Given the description of an element on the screen output the (x, y) to click on. 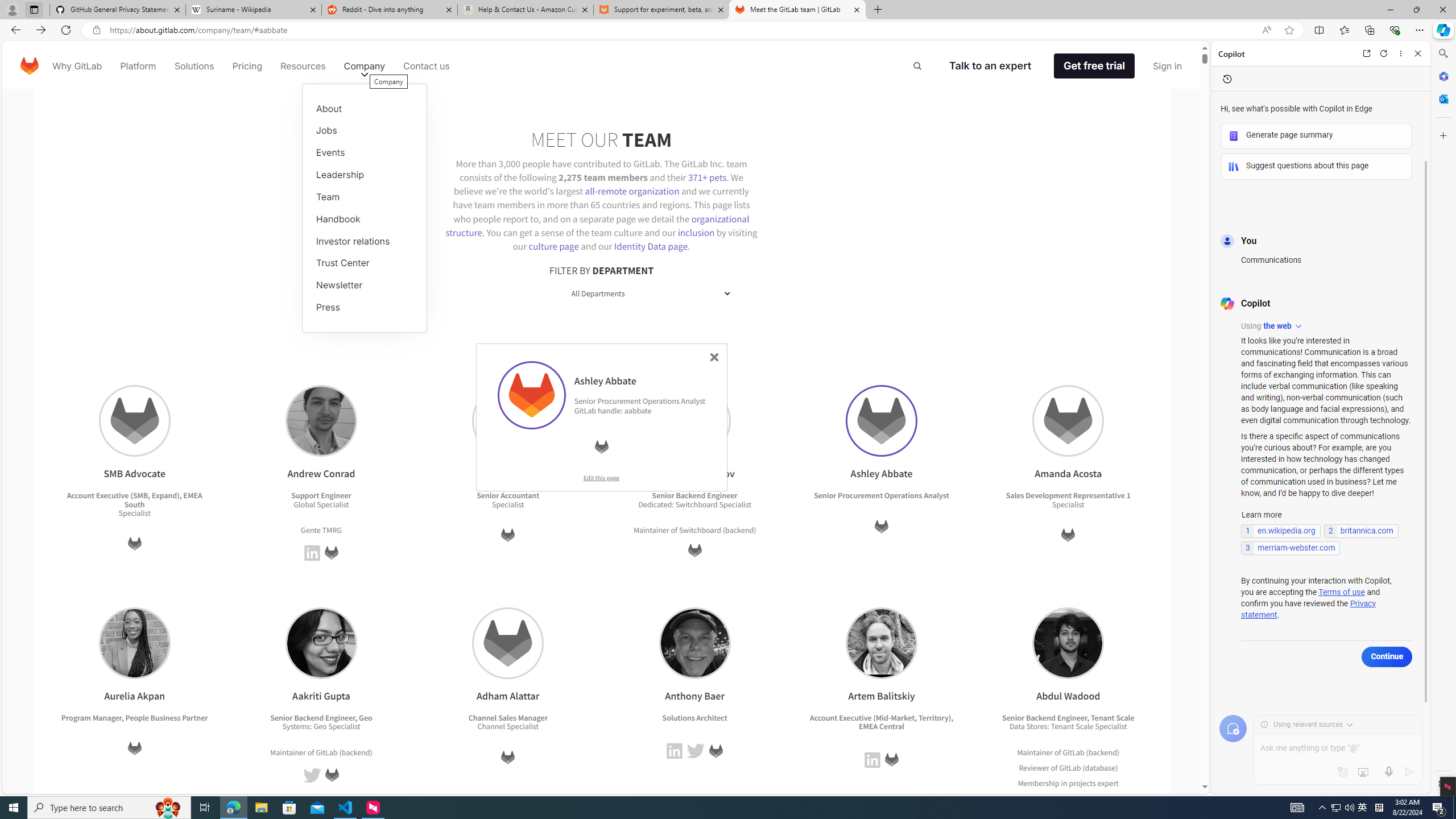
Maintainer of GitLab (backend) (1067, 752)
Platform (138, 65)
inclusion (695, 232)
Senior Procurement Operations Analyst (881, 495)
SMB Advocate (134, 420)
Company (364, 65)
Pricing (246, 65)
Andrew Conrad (320, 420)
Pricing (246, 65)
Support Engineer (320, 495)
Talk to an expert (990, 65)
Amanda Acosta (1067, 420)
